Given the description of an element on the screen output the (x, y) to click on. 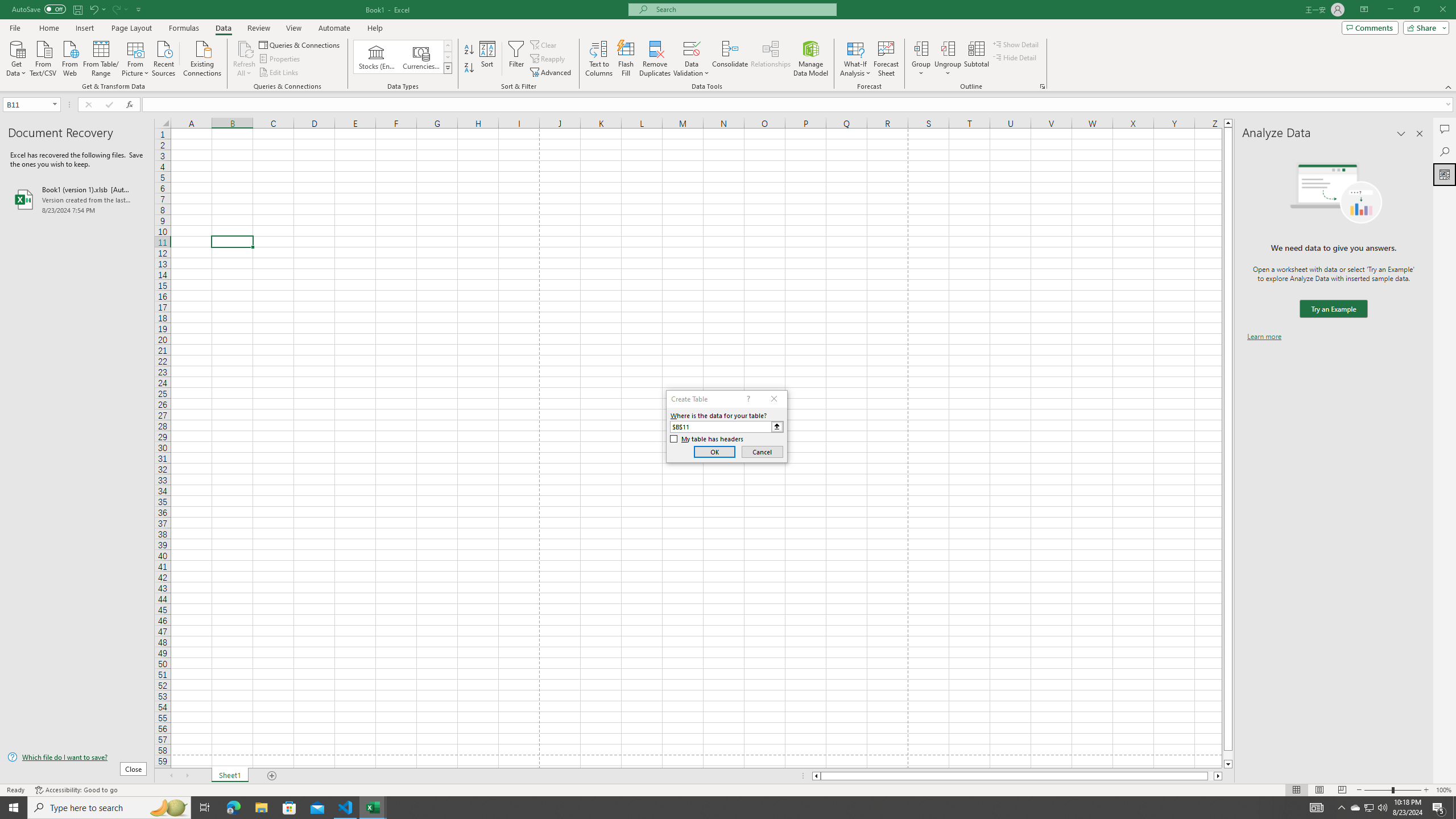
Sort Z to A (469, 67)
Data Types (448, 67)
Recent Sources (163, 57)
